Given the description of an element on the screen output the (x, y) to click on. 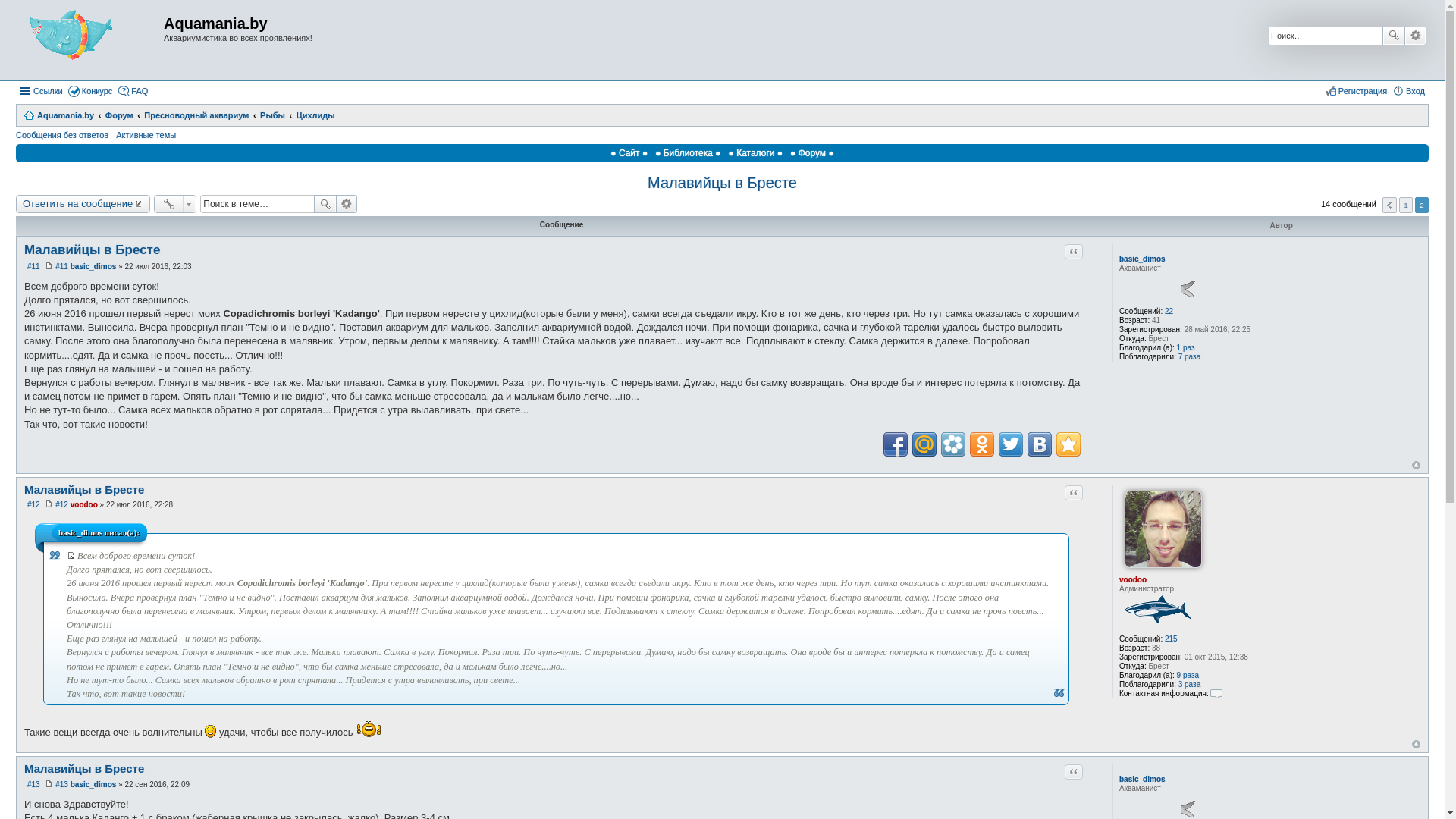
#12 Element type: text (61, 504)
basic_dimos Element type: text (1142, 258)
voodoo Element type: text (83, 504)
#12 Element type: text (33, 504)
basic_dimos Element type: text (93, 784)
#11 Element type: text (61, 266)
#13 Element type: text (33, 784)
22 Element type: text (1168, 311)
voodoo Element type: text (1132, 579)
FAQ Element type: text (132, 90)
Aquamania.by Element type: text (59, 115)
Aquamania.by Element type: hover (89, 39)
#13 Element type: text (61, 784)
basic_dimos Element type: text (1142, 779)
#11 Element type: text (33, 266)
215 Element type: text (1170, 638)
basic_dimos Element type: text (93, 266)
1 Element type: text (1405, 205)
